Given the description of an element on the screen output the (x, y) to click on. 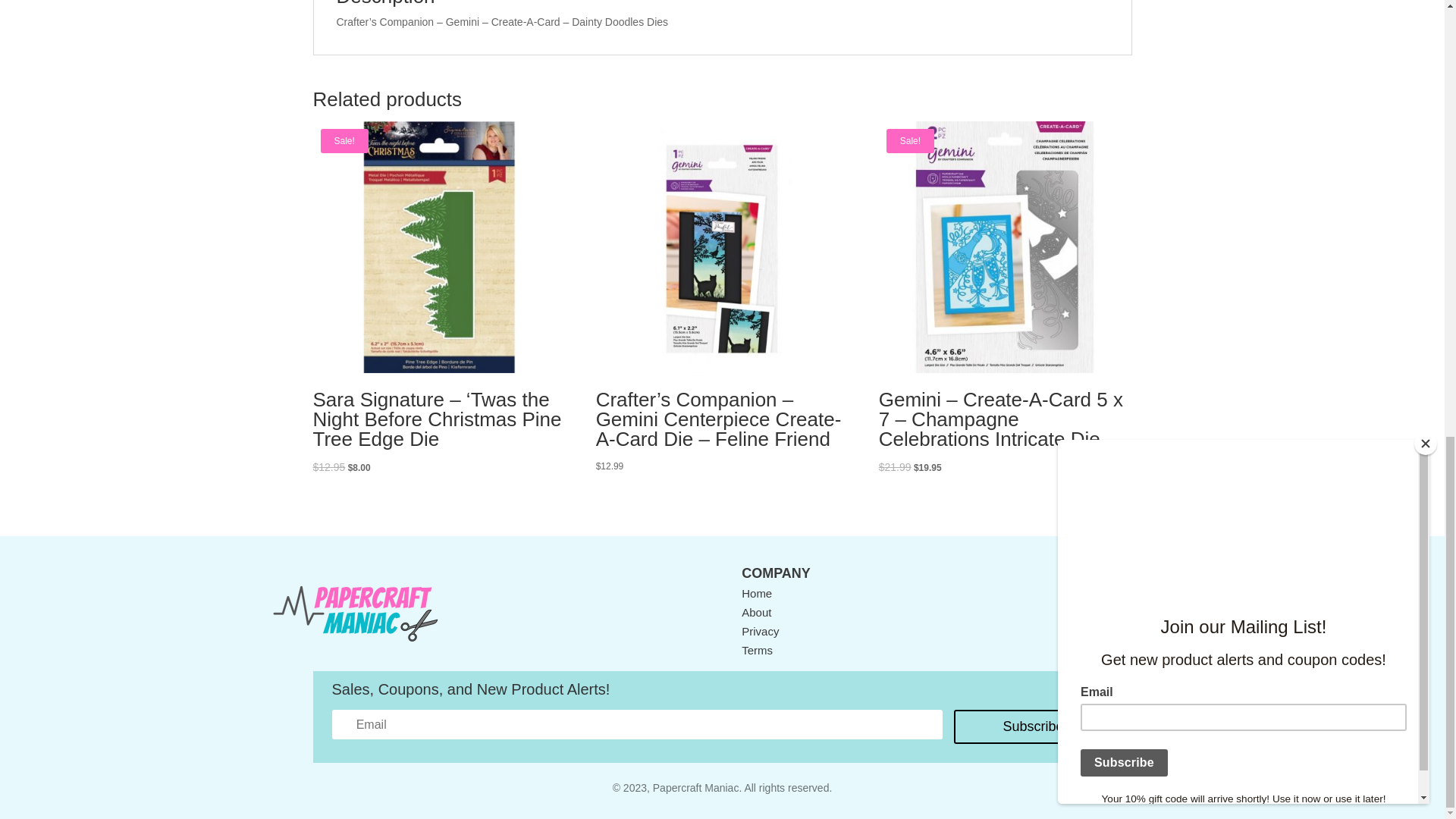
Terms (757, 649)
Privacy Policy (759, 631)
Subscribe (1033, 726)
Returns (1096, 631)
Contact (1096, 593)
Shipping (1099, 612)
FAQ (1088, 649)
About (756, 612)
Home (756, 593)
Terms (757, 649)
Privacy (759, 631)
Papercraft Maniac (354, 612)
Contact (1096, 593)
About (756, 612)
Home (756, 593)
